Given the description of an element on the screen output the (x, y) to click on. 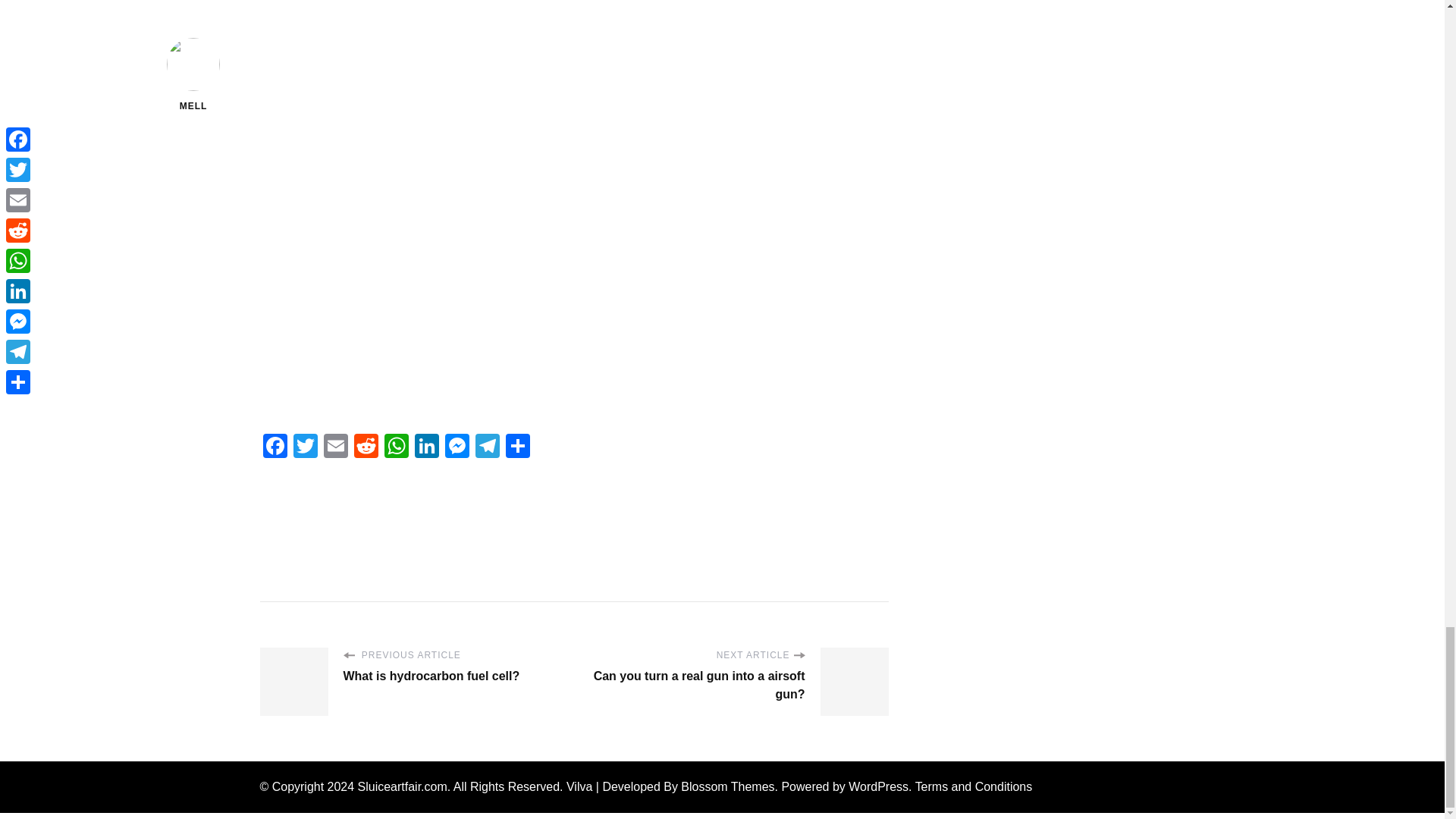
LinkedIn (425, 447)
Telegram (486, 447)
Blossom Themes (727, 786)
Reddit (365, 447)
Email (335, 447)
Messenger (456, 447)
Messenger (456, 447)
Telegram (486, 447)
Sluiceartfair.com (402, 786)
WhatsApp (395, 447)
Facebook (274, 447)
LinkedIn (425, 447)
Facebook (274, 447)
Twitter (304, 447)
